Given the description of an element on the screen output the (x, y) to click on. 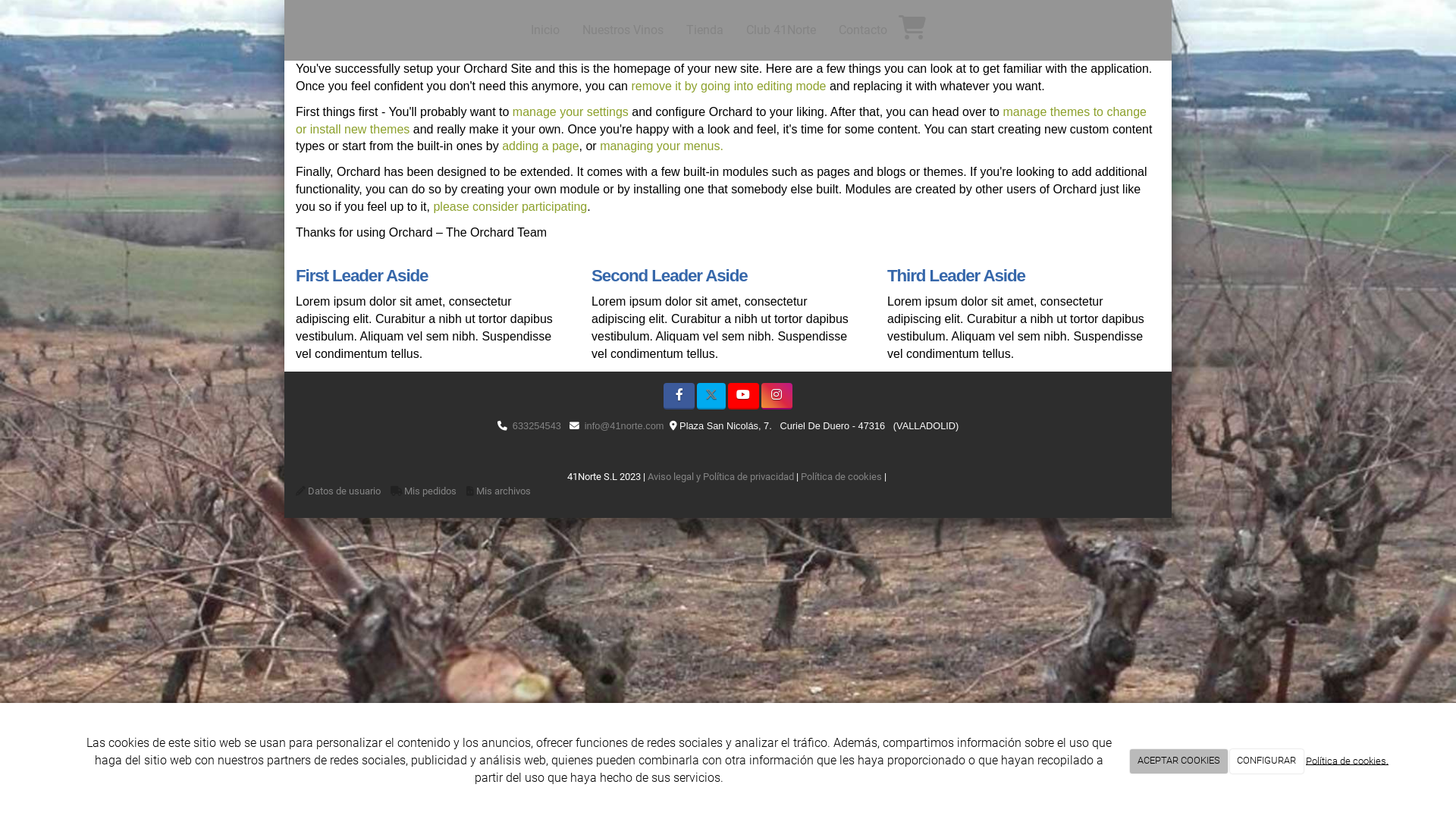
CONFIGURAR Element type: text (1267, 761)
manage your settings Element type: text (570, 111)
Contacto Element type: text (861, 30)
633254543 Element type: text (536, 425)
Nuestros Vinos Element type: text (622, 30)
adding a page Element type: text (540, 145)
remove it by going into editing mode Element type: text (727, 85)
ACEPTAR COOKIES Element type: text (1178, 761)
Tienda Element type: text (704, 30)
Club 41Norte Element type: text (780, 30)
manage themes to change or install new themes Element type: text (720, 120)
Mis pedidos Element type: text (430, 490)
managing your menus. Element type: text (661, 145)
Mis archivos Element type: text (503, 490)
please consider participating Element type: text (509, 206)
Datos de usuario Element type: text (343, 490)
Inicio Element type: text (544, 30)
info@41norte.com Element type: text (624, 425)
